Given the description of an element on the screen output the (x, y) to click on. 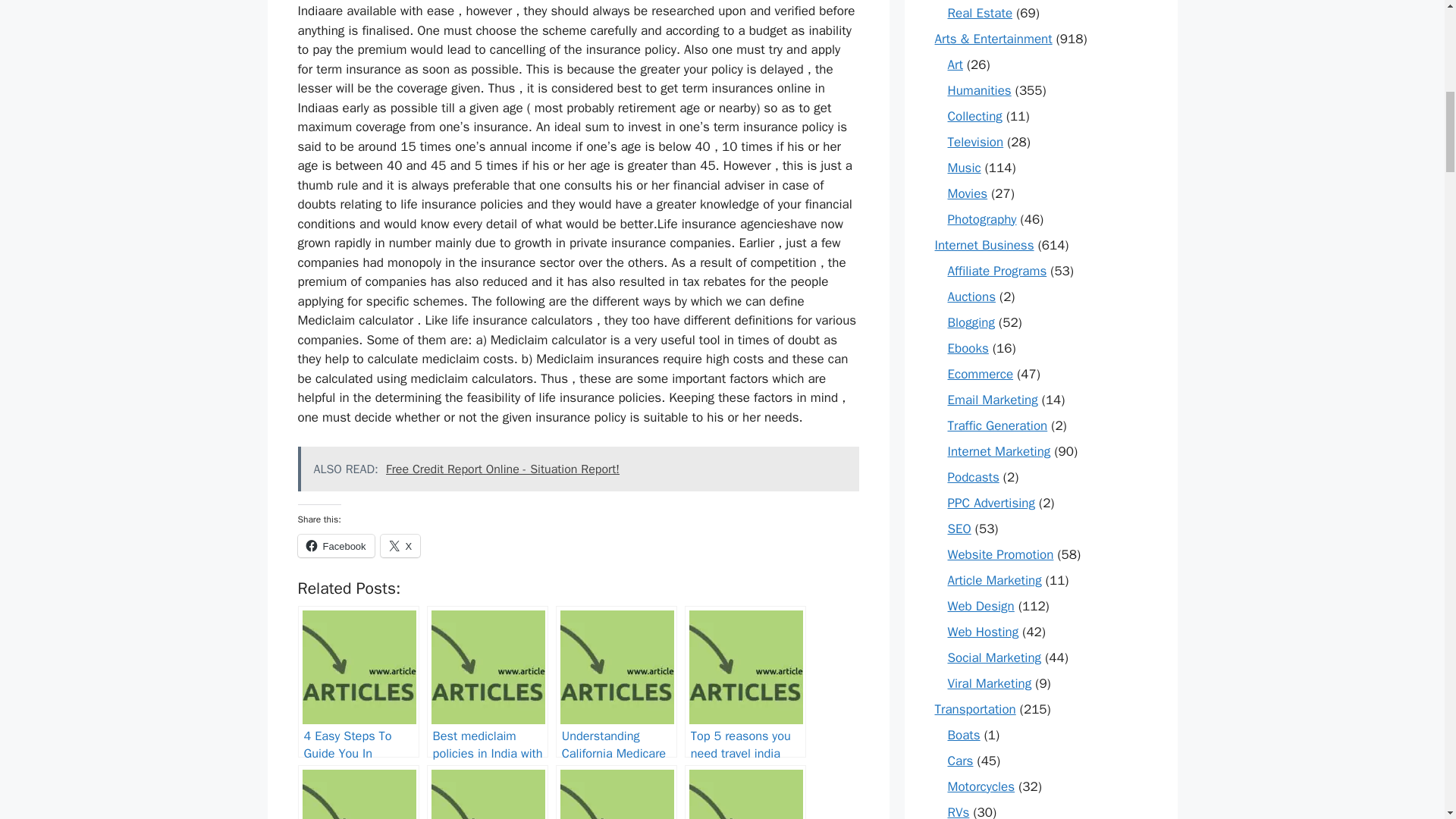
Click to share on X (400, 545)
Get home insurance online at affordable price today (358, 791)
Get home insurance online at affordable price today (358, 791)
How to Compare Loans in Dubai (616, 791)
Click to share on Facebook (335, 545)
X (400, 545)
6 Excellent Ways to Save On Car Insurance (487, 791)
Facebook (335, 545)
ALSO READ:  Free Credit Report Online - Situation Report! (578, 469)
